Given the description of an element on the screen output the (x, y) to click on. 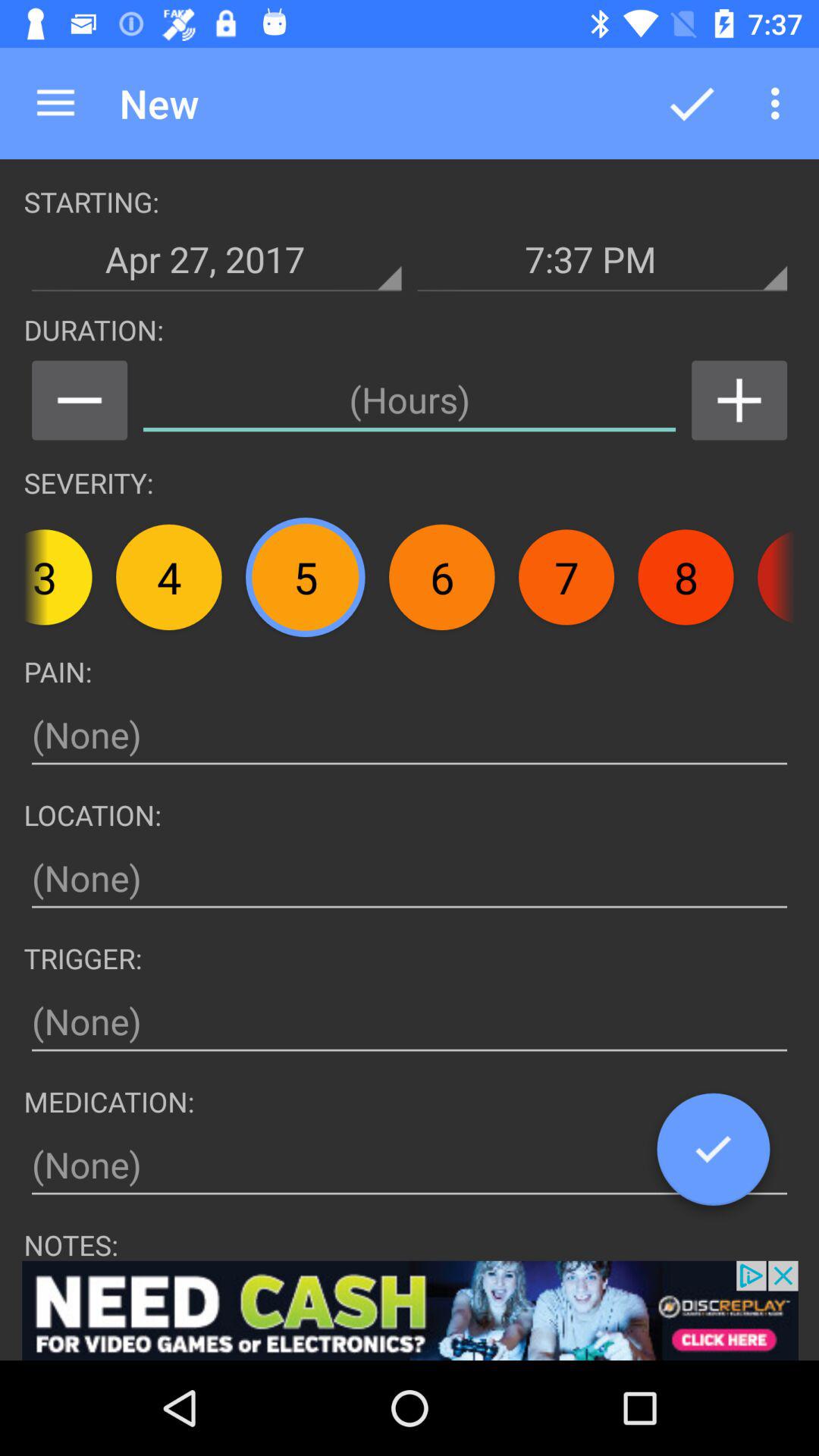
headache trigger note box (409, 1021)
